Given the description of an element on the screen output the (x, y) to click on. 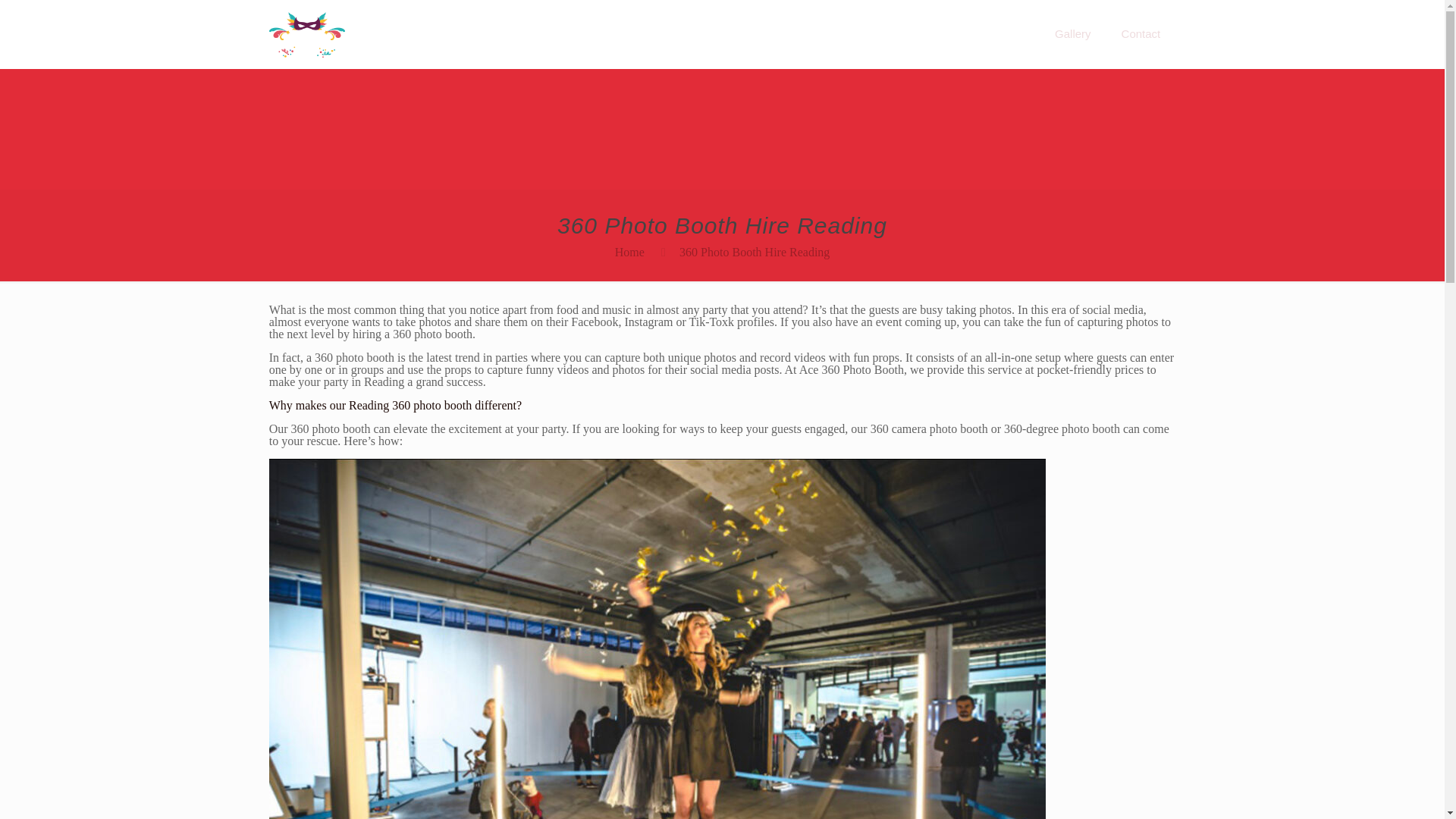
Contact (1141, 33)
Home (629, 251)
Gallery (1072, 33)
Ace 360 Photo booth (307, 33)
